Given the description of an element on the screen output the (x, y) to click on. 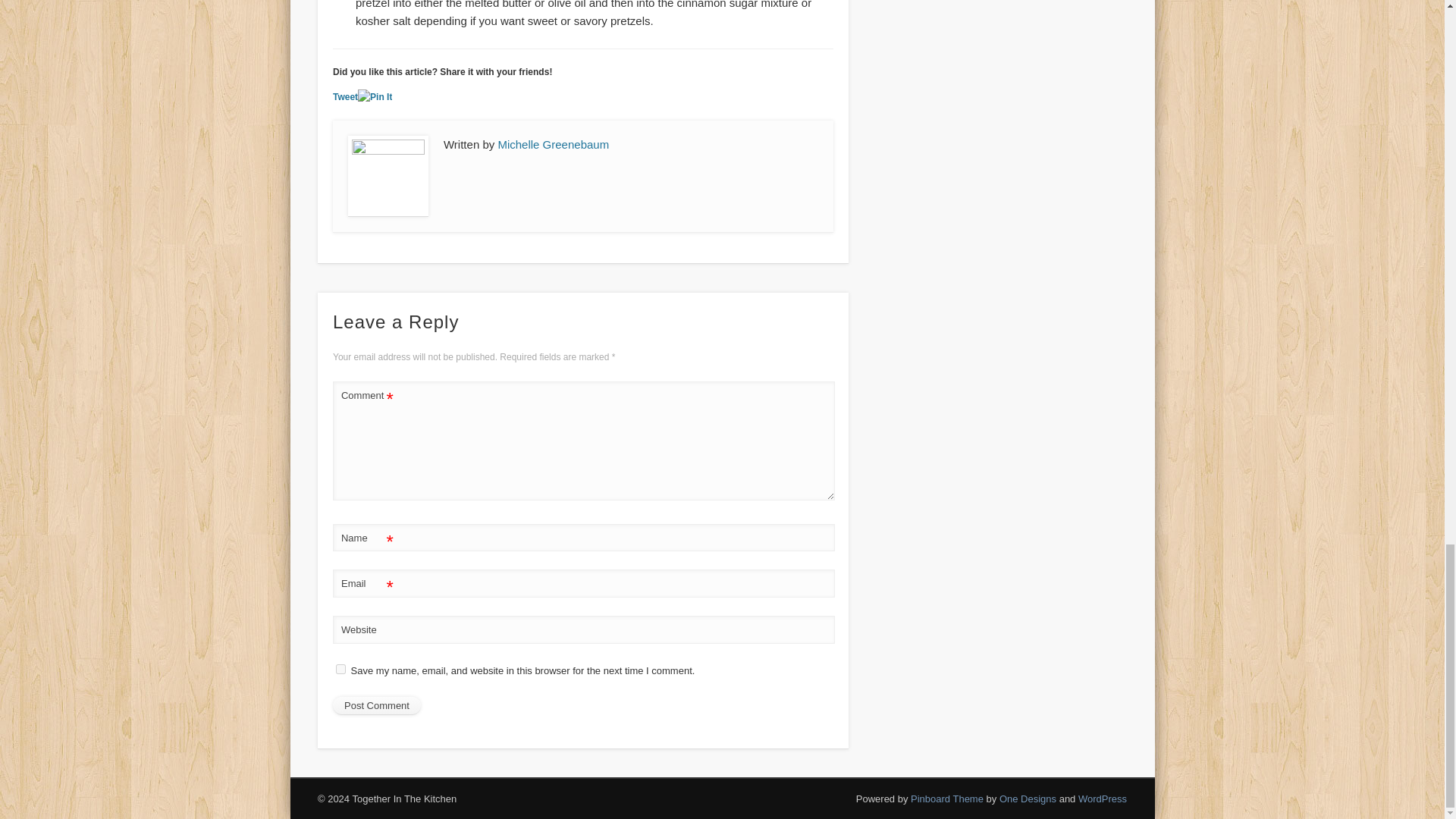
Posts by Michelle Greenebaum (552, 144)
Michelle Greenebaum (552, 144)
Pinboard Theme (947, 798)
yes (341, 669)
WordPress (1102, 798)
Pin It (374, 97)
Pinboard Theme (947, 798)
Post Comment (376, 705)
Tweet (345, 96)
WordPress (1102, 798)
